Given the description of an element on the screen output the (x, y) to click on. 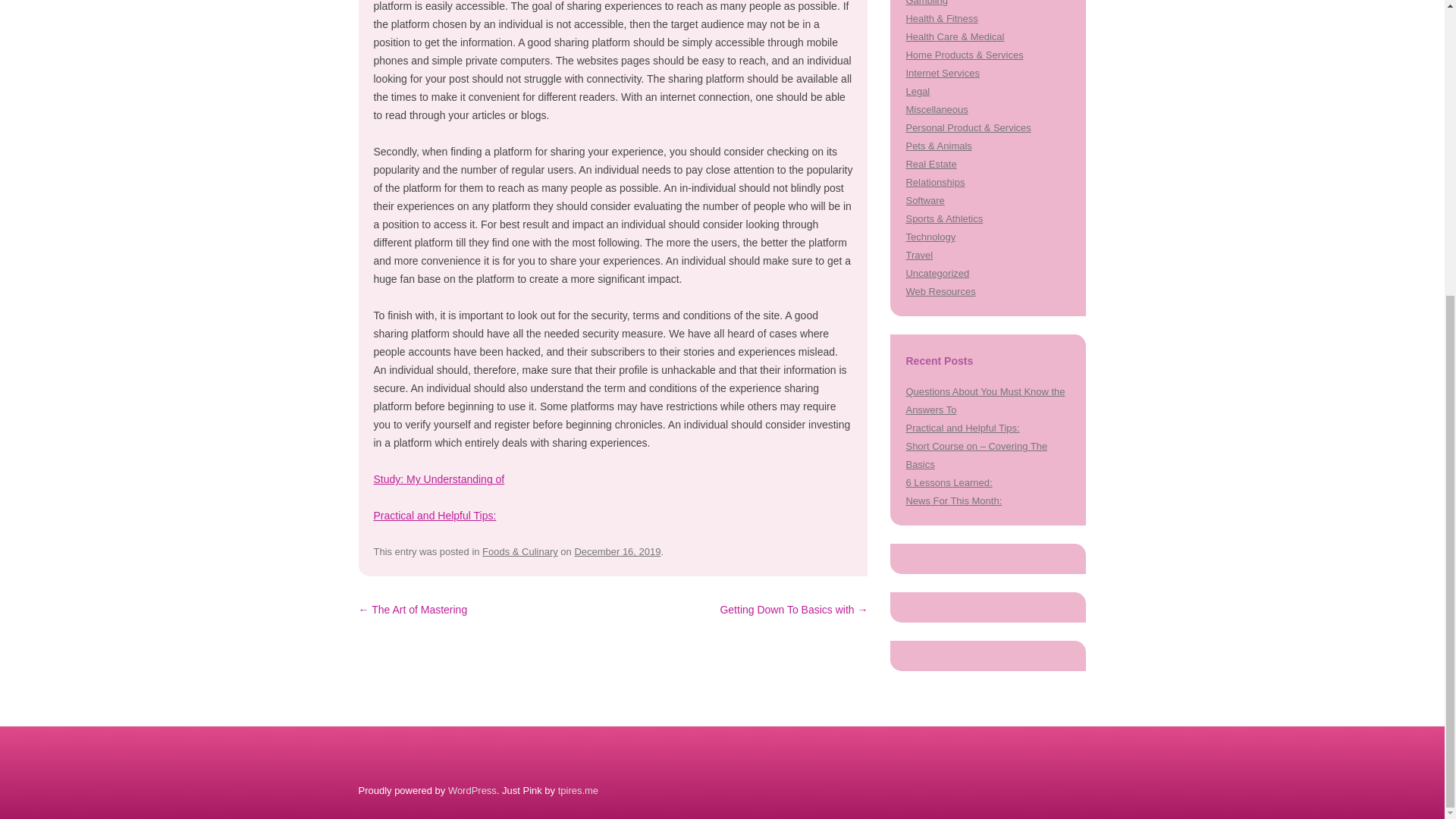
Semantic Personal Publishing Platform (472, 790)
Web Resources (940, 291)
Gambling (926, 2)
Software (924, 200)
Miscellaneous (936, 109)
Uncategorized (937, 273)
December 16, 2019 (617, 551)
Study: My Understanding of (437, 479)
Practical and Helpful Tips: (434, 515)
Practical and Helpful Tips: (962, 428)
